Given the description of an element on the screen output the (x, y) to click on. 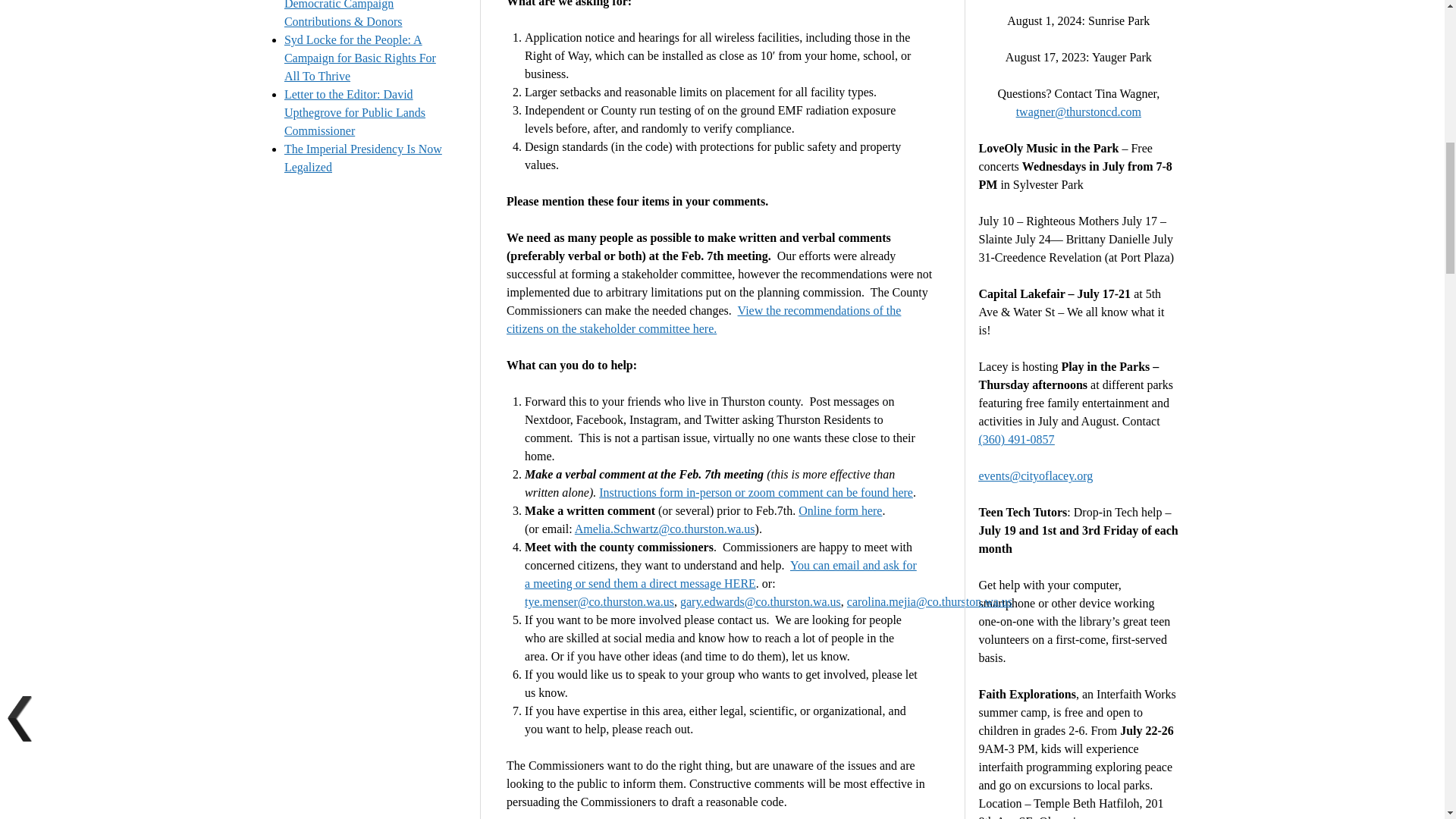
The Imperial Presidency Is Now Legalized (362, 157)
